Given the description of an element on the screen output the (x, y) to click on. 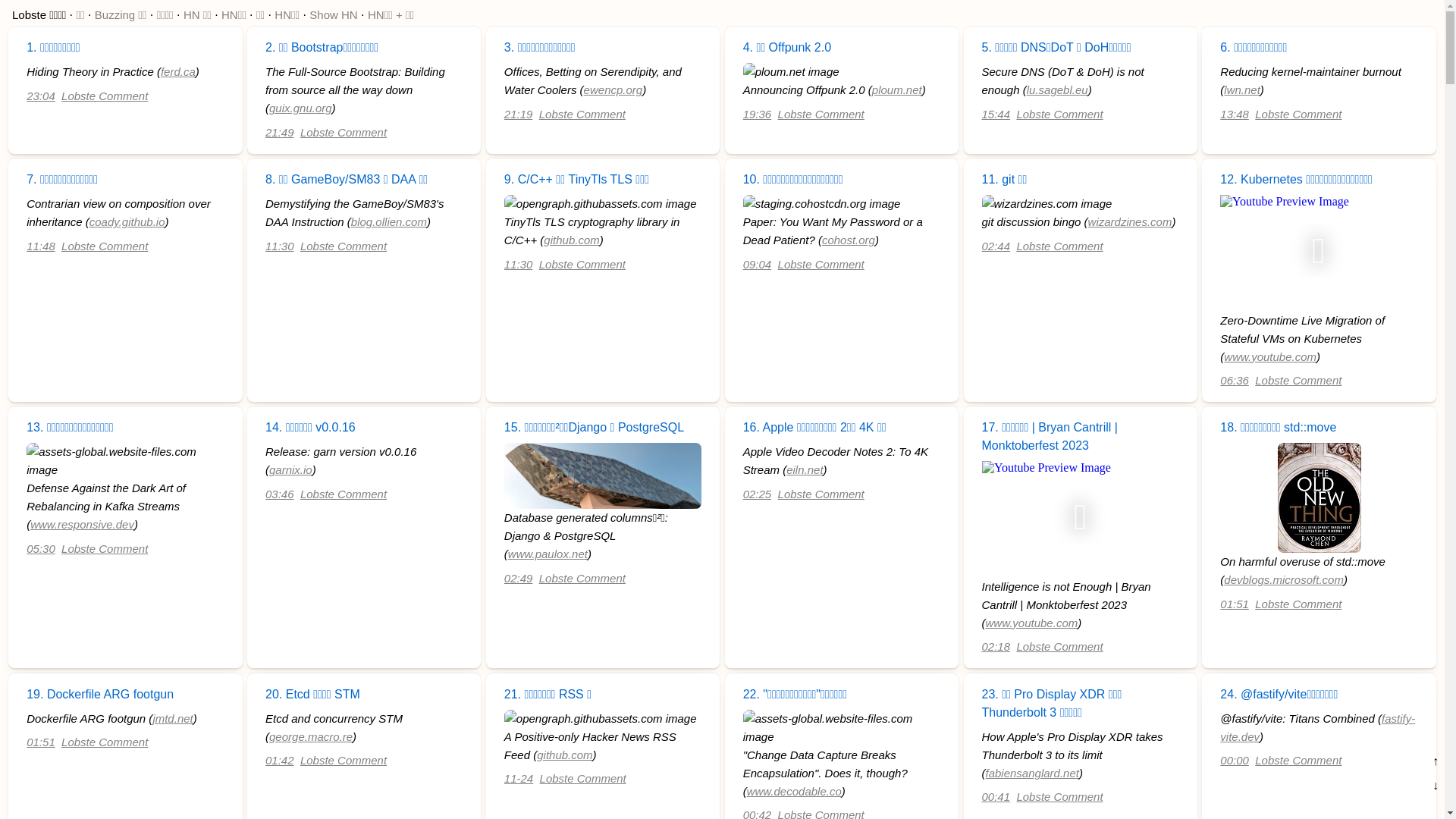
Lobste Comment Element type: text (1298, 603)
www.youtube.com Element type: text (1031, 622)
www.responsive.dev Element type: text (82, 523)
fabiensanglard.net Element type: text (1032, 772)
11:30 Element type: text (279, 245)
19:36 Element type: text (757, 113)
cohost.org Element type: text (848, 239)
11:30 Element type: text (518, 263)
blog.ollien.com Element type: text (388, 221)
lwn.net Element type: text (1241, 89)
github.com Element type: text (571, 239)
02:44 Element type: text (995, 245)
01:42 Element type: text (279, 759)
19. Dockerfile ARG footgun Element type: text (99, 693)
21:19 Element type: text (518, 113)
Lobste Comment Element type: text (582, 113)
01:51 Element type: text (40, 741)
11-24 Element type: text (518, 777)
13:48 Element type: text (1234, 113)
00:00 Element type: text (1234, 759)
Lobste Comment Element type: text (582, 777)
Lobste Comment Element type: text (104, 95)
Lobste Comment Element type: text (1059, 646)
Lobste Comment Element type: text (104, 741)
Lobste Comment Element type: text (821, 263)
www.paulox.net Element type: text (547, 553)
00:41 Element type: text (995, 796)
www.decodable.co Element type: text (793, 790)
Lobste Comment Element type: text (1059, 796)
01:51 Element type: text (1234, 603)
george.macro.re Element type: text (310, 736)
Lobste Comment Element type: text (1298, 379)
www.youtube.com Element type: text (1269, 356)
02:25 Element type: text (757, 493)
02:49 Element type: text (518, 577)
03:46 Element type: text (279, 493)
lu.sagebl.eu Element type: text (1057, 89)
09:04 Element type: text (757, 263)
fastify-vite.dev Element type: text (1317, 727)
wizardzines.com Element type: text (1130, 221)
devblogs.microsoft.com Element type: text (1283, 579)
15:44 Element type: text (995, 113)
Lobste Comment Element type: text (343, 759)
garnix.io Element type: text (290, 469)
Lobste Comment Element type: text (582, 577)
Lobste Comment Element type: text (1298, 759)
Lobste Comment Element type: text (104, 245)
Lobste Comment Element type: text (1059, 113)
05:30 Element type: text (40, 548)
github.com Element type: text (564, 754)
Lobste Comment Element type: text (821, 113)
Lobste Comment Element type: text (582, 263)
06:36 Element type: text (1234, 379)
ewencp.org Element type: text (613, 89)
Show HN Element type: text (333, 14)
Lobste Comment Element type: text (343, 245)
ferd.ca Element type: text (177, 71)
jmtd.net Element type: text (172, 718)
Lobste Comment Element type: text (1059, 245)
Lobste Comment Element type: text (104, 548)
11:48 Element type: text (40, 245)
02:18 Element type: text (995, 646)
Lobste Comment Element type: text (343, 493)
guix.gnu.org Element type: text (300, 107)
21:49 Element type: text (279, 131)
Lobste Comment Element type: text (821, 493)
ploum.net Element type: text (897, 89)
Lobste Comment Element type: text (1298, 113)
coady.github.io Element type: text (127, 221)
Lobste Comment Element type: text (343, 131)
23:04 Element type: text (40, 95)
eiln.net Element type: text (804, 469)
